Given the description of an element on the screen output the (x, y) to click on. 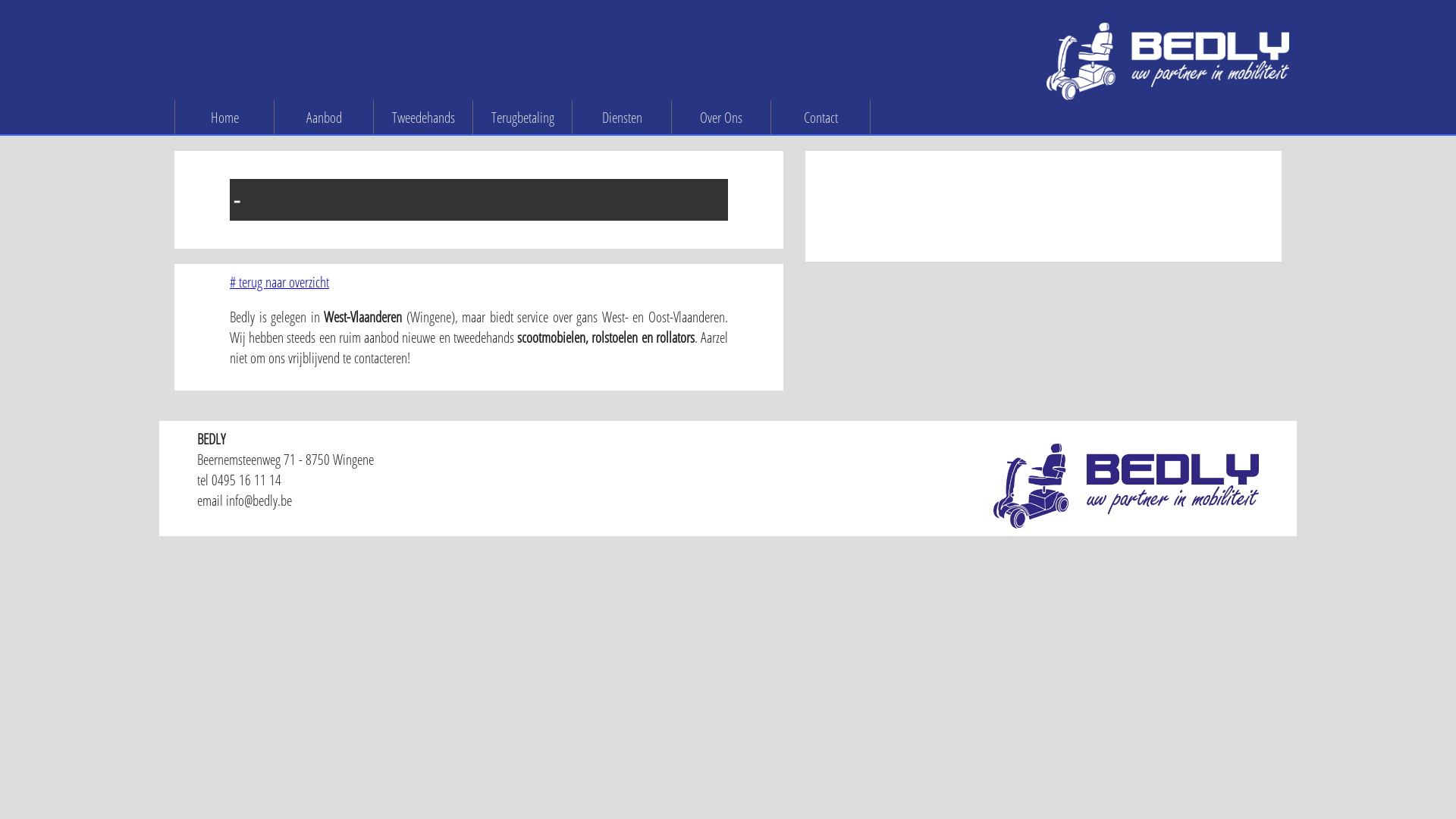
Terugbetaling Element type: text (522, 117)
Contact Element type: text (820, 117)
contacteren Element type: text (380, 357)
Aanbod Element type: text (323, 117)
Home Element type: text (224, 117)
# terug naar overzicht Element type: text (279, 281)
Diensten Element type: text (621, 117)
Over Ons Element type: text (721, 117)
Tweedehands Element type: text (423, 117)
